Given the description of an element on the screen output the (x, y) to click on. 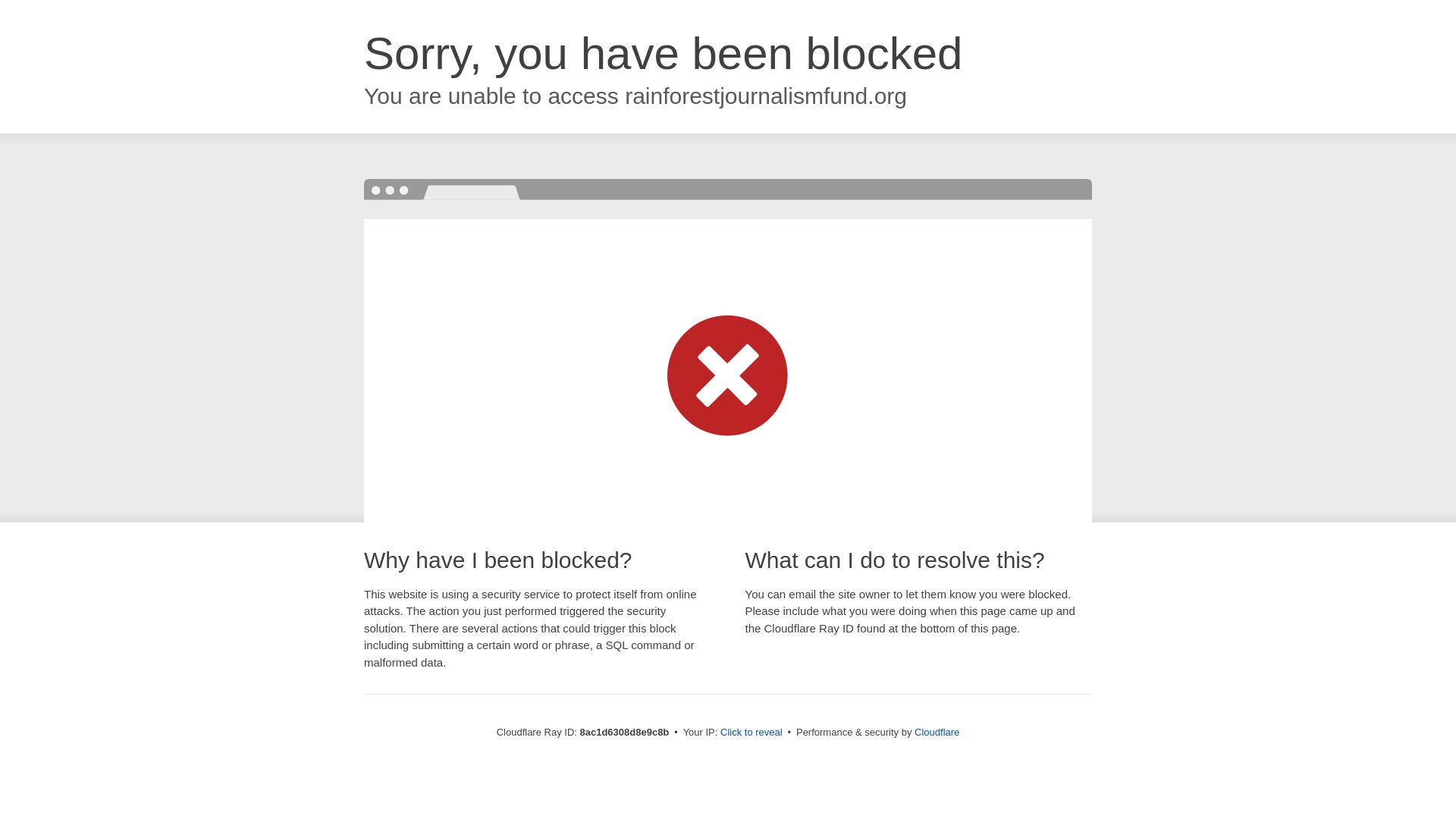
Click to reveal (751, 732)
Cloudflare (936, 731)
